Given the description of an element on the screen output the (x, y) to click on. 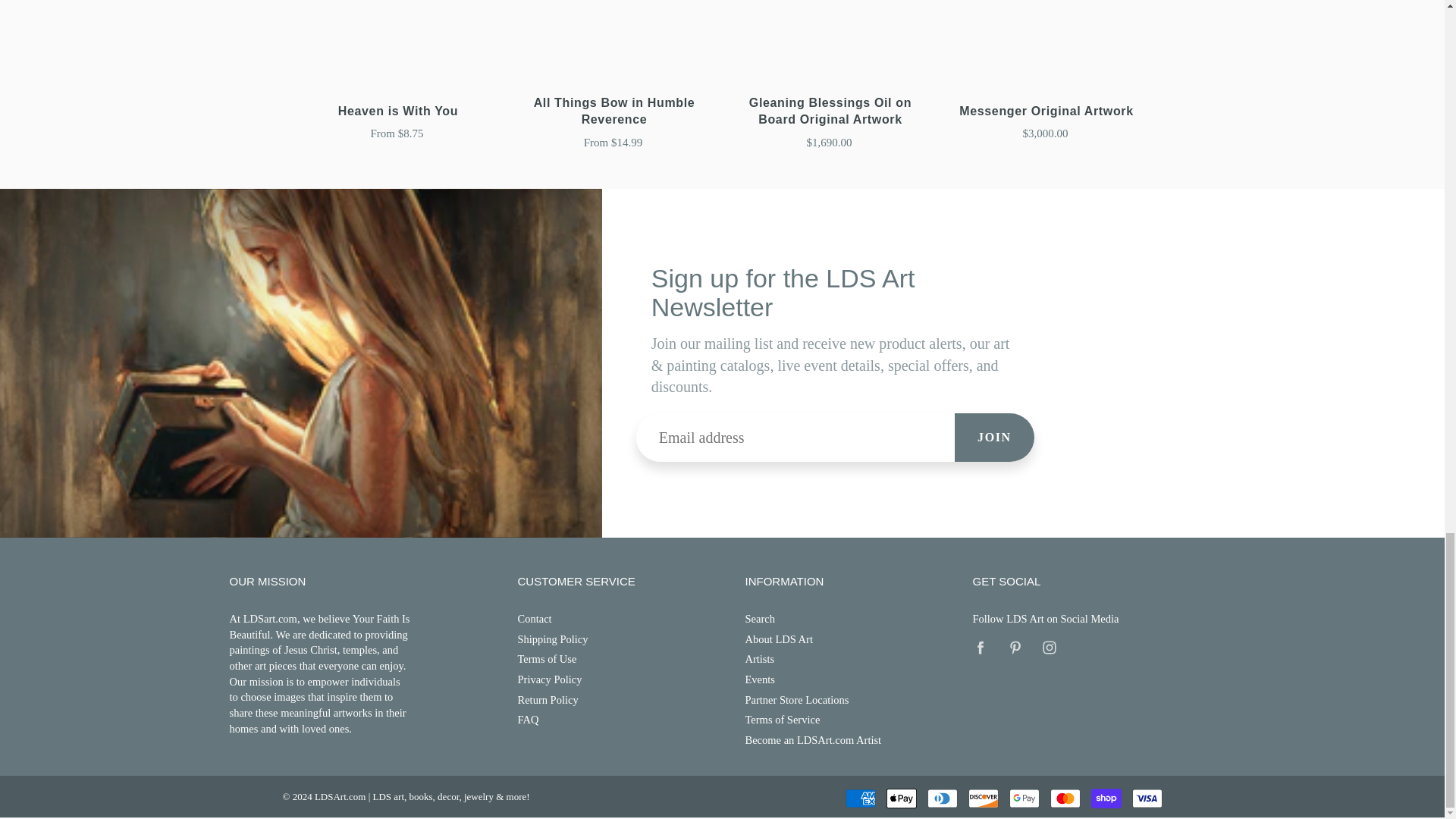
Mastercard (1064, 798)
Diners Club (941, 798)
American Express (859, 798)
Google Pay (1024, 798)
Visa (1146, 798)
Discover (982, 798)
Shop Pay (1105, 798)
Apple Pay (900, 798)
